Given the description of an element on the screen output the (x, y) to click on. 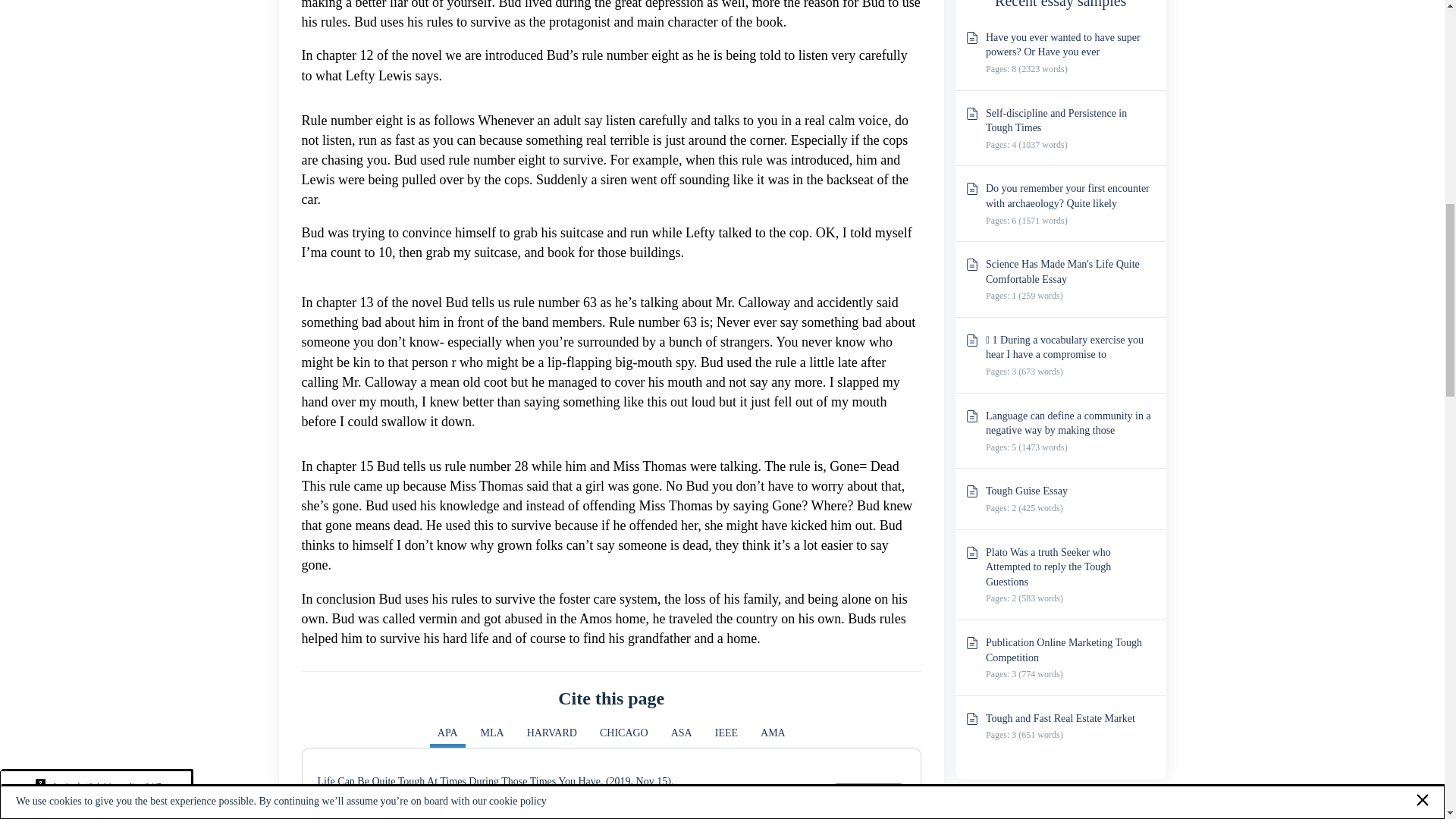
Publication Online Marketing Tough Competition (1063, 650)
Tough and Fast Real Estate Market (1060, 717)
HARVARD (552, 736)
CHICAGO (624, 736)
MLA (492, 736)
Self-discipline and Persistence in Tough Times (1055, 120)
Copy (868, 796)
ASA (681, 736)
AMA (772, 736)
Tough Guise Essay (1026, 490)
IEEE (726, 736)
Have you ever wanted to have super powers? Or Have you ever (1062, 44)
